Given the description of an element on the screen output the (x, y) to click on. 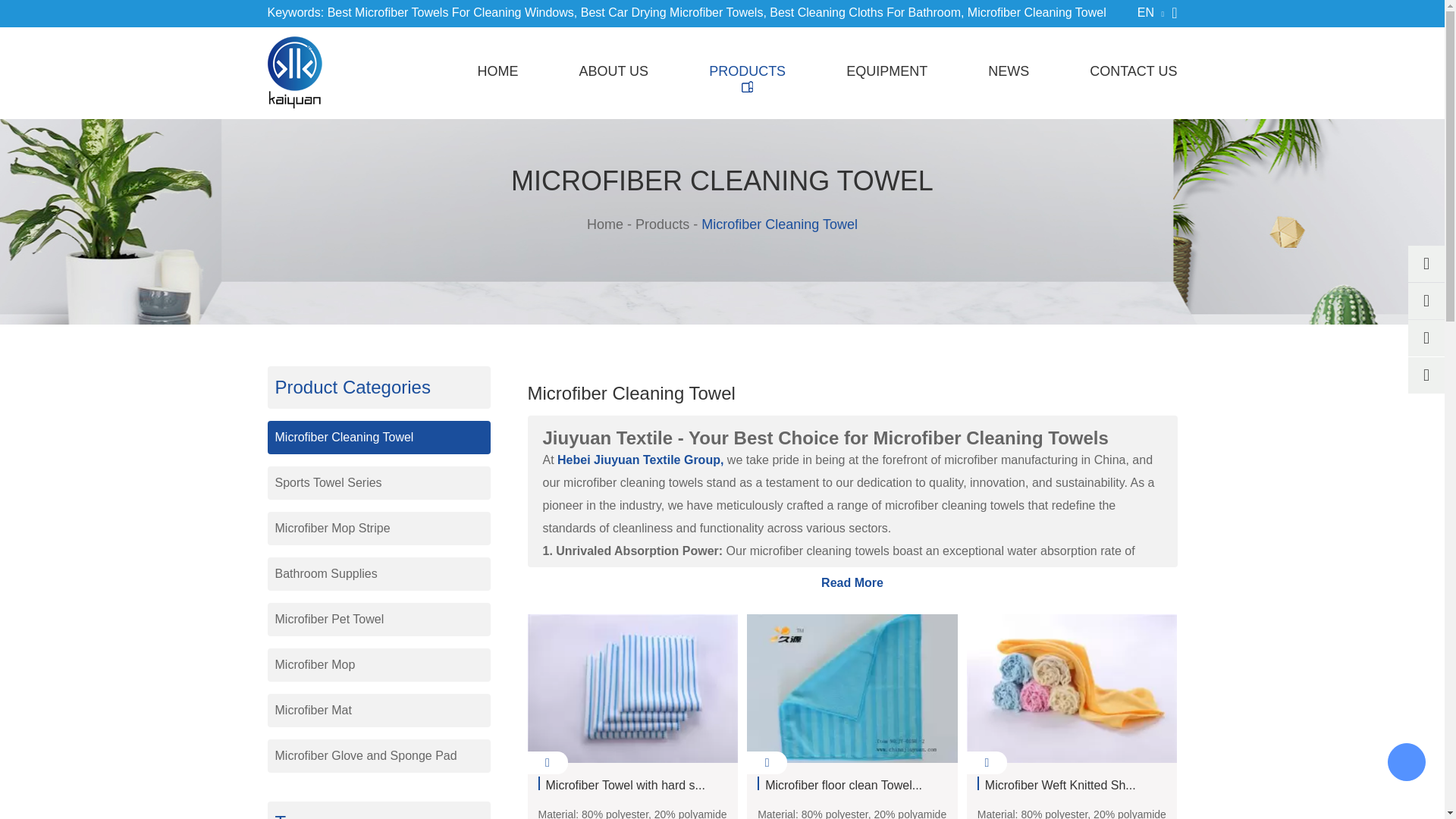
Microfiber Cleaning Towel (1037, 11)
Best Cleaning Cloths For Bathroom, (866, 11)
Best Car Drying Microfiber Towels, (673, 11)
Best Microfiber Towels For Cleaning Windows, (452, 11)
Best Car Drying Microfiber Towels (673, 11)
CONTACT US (1132, 71)
Best Microfiber Towels For Cleaning Windows (452, 11)
Microfiber Cleaning Towel (1037, 11)
EN (1150, 13)
EQUIPMENT (886, 71)
Equipment (886, 71)
Best Cleaning Cloths For Bathroom (866, 11)
